Given the description of an element on the screen output the (x, y) to click on. 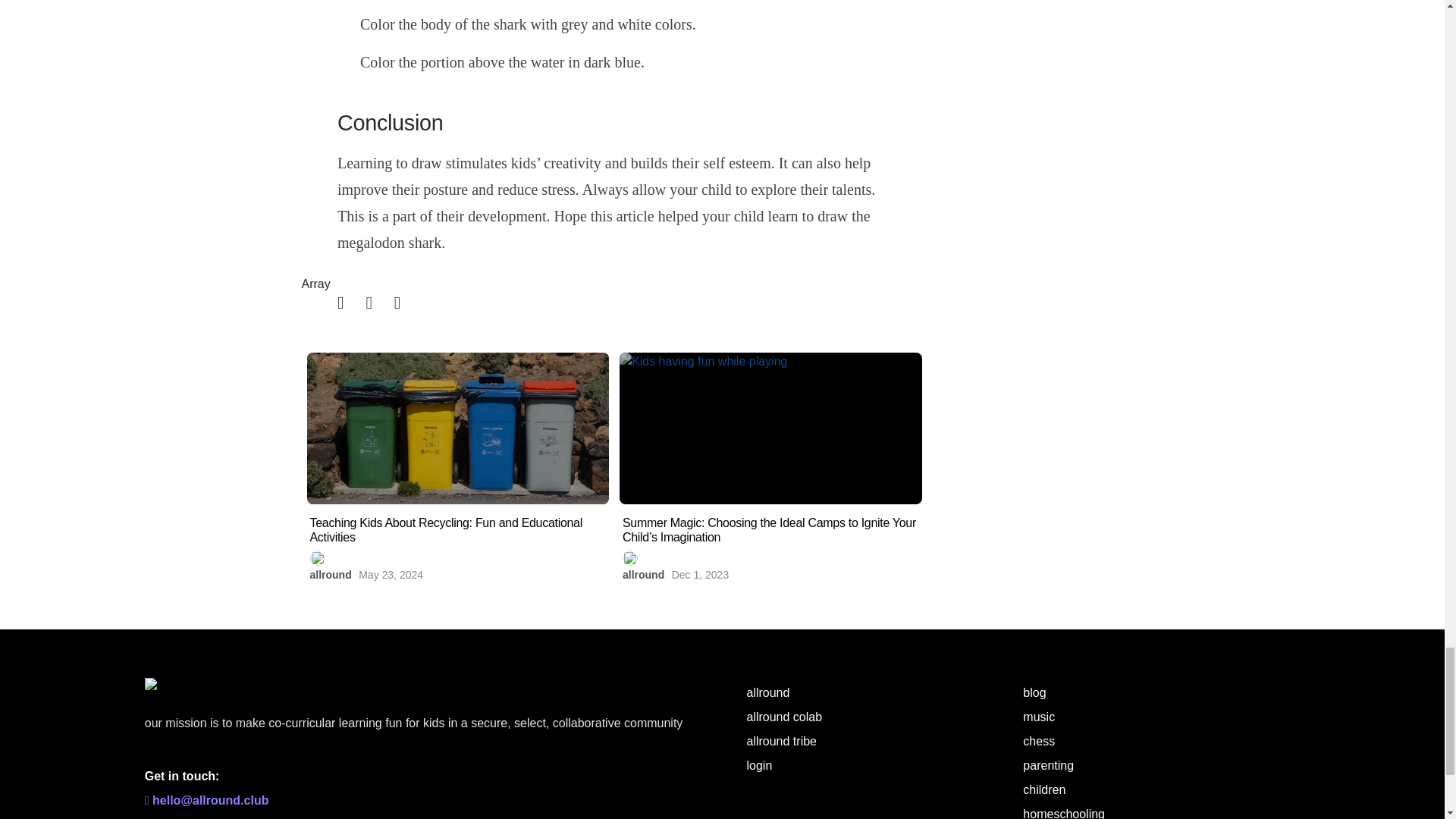
Posts by allround (643, 574)
Posts by allround (329, 574)
